Given the description of an element on the screen output the (x, y) to click on. 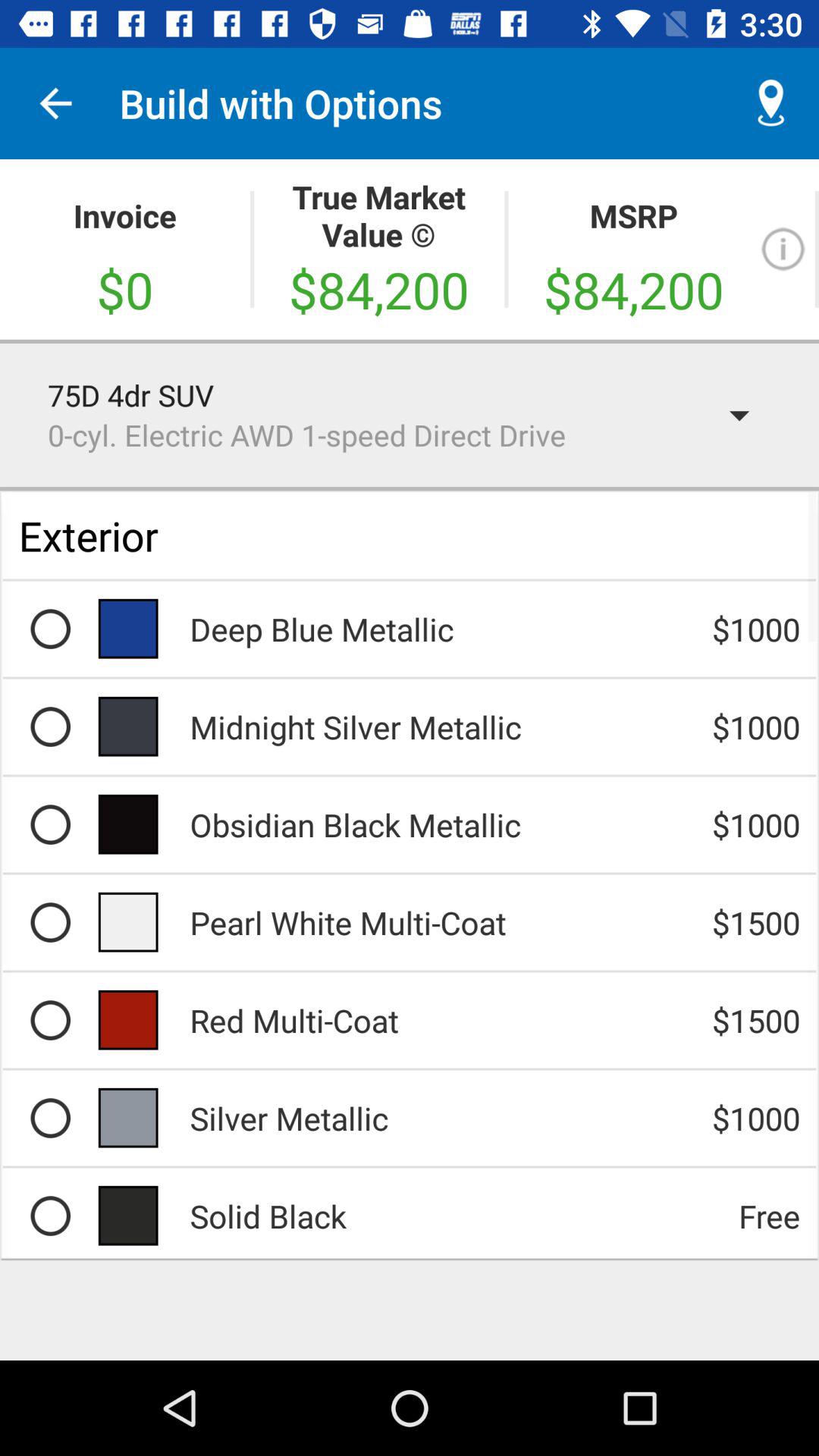
select option (50, 922)
